Given the description of an element on the screen output the (x, y) to click on. 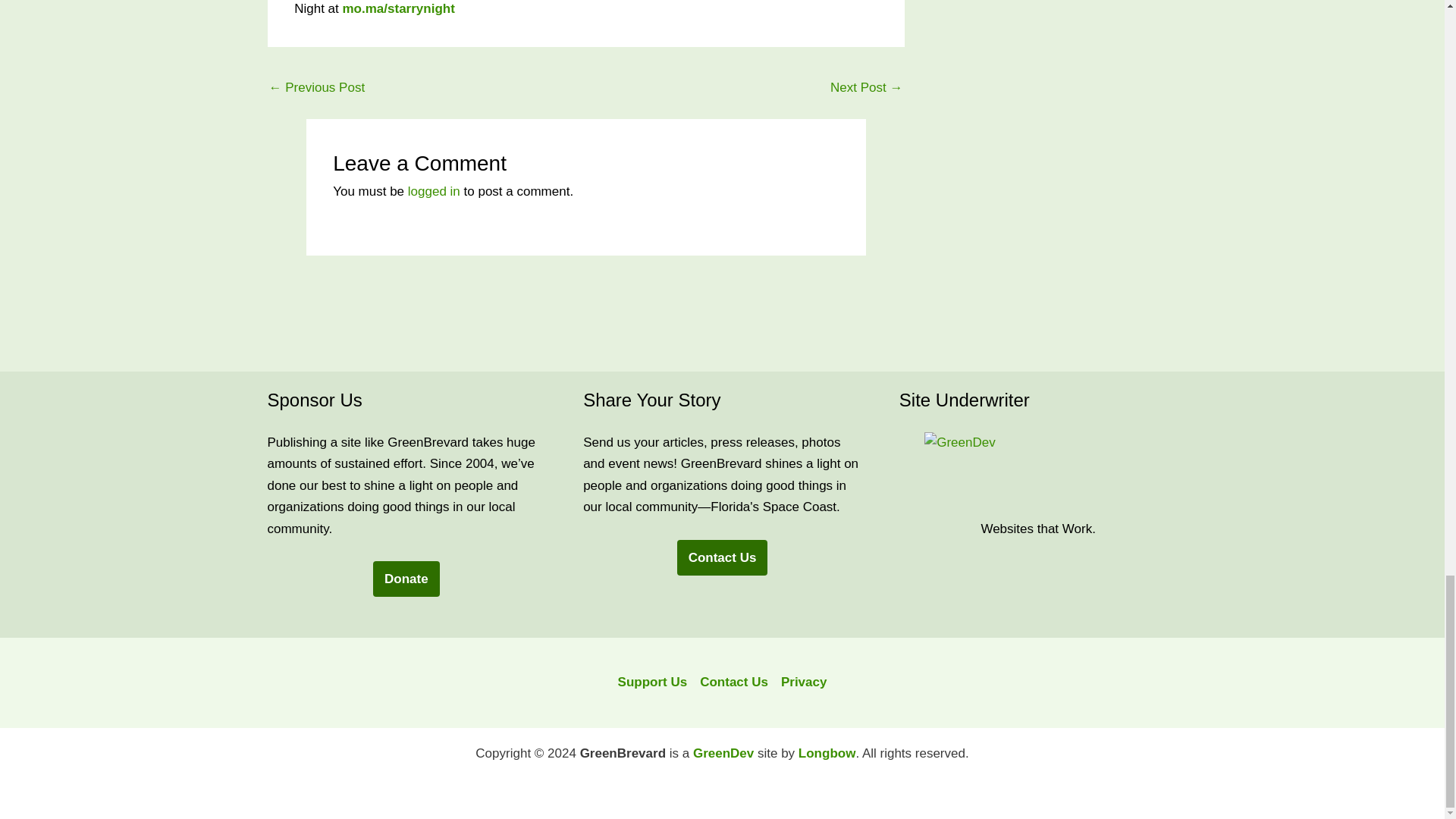
Grant BBQ Festival (865, 89)
GreenDev (1037, 469)
logged in (433, 191)
The Florida Trail (316, 89)
